Given the description of an element on the screen output the (x, y) to click on. 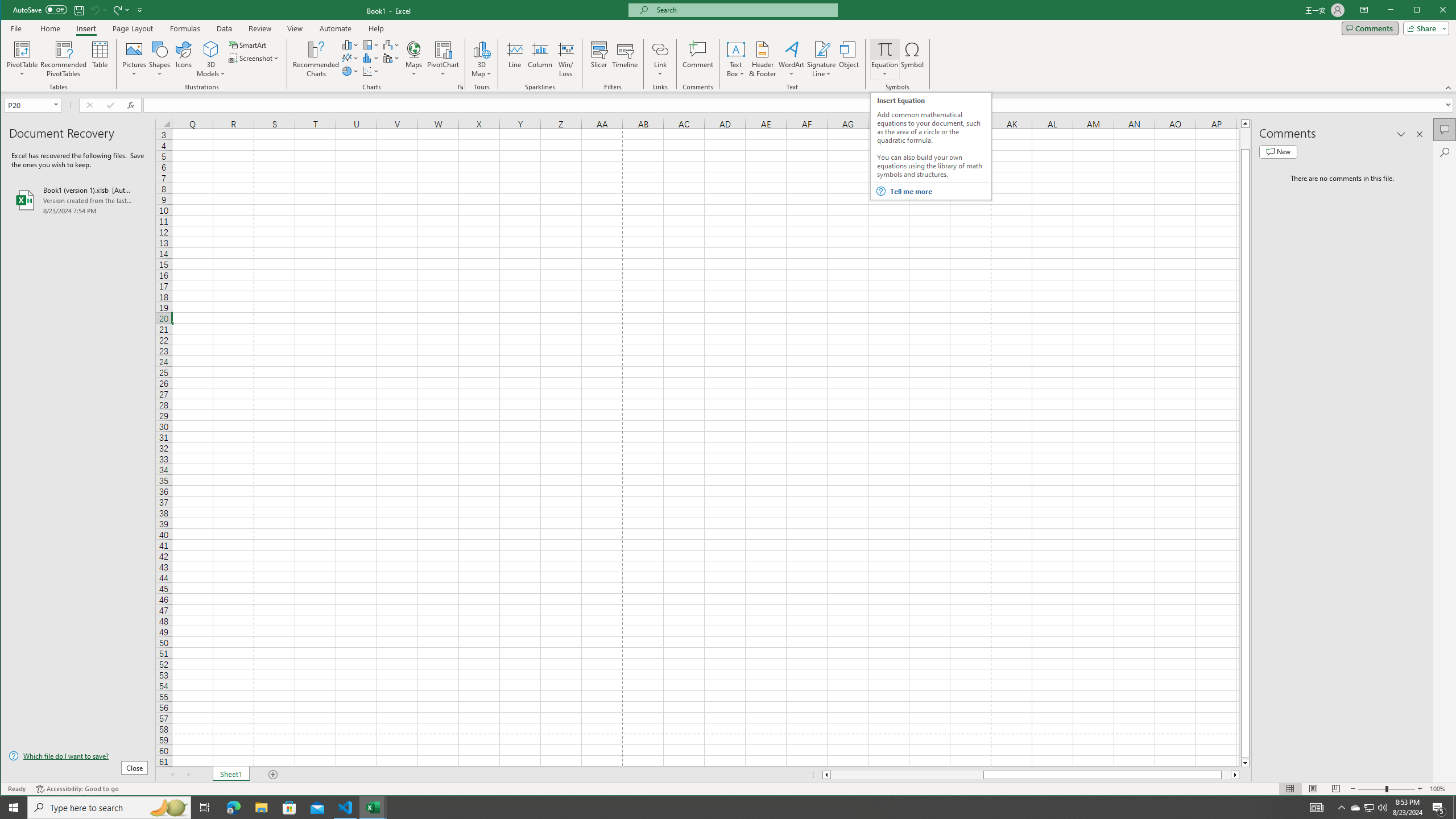
SmartArt... (248, 44)
Type here to search (108, 807)
Insert Statistic Chart (371, 57)
PivotChart (443, 48)
3D Models (211, 48)
Text Box (735, 59)
Running applications (717, 807)
Insert Combo Chart (391, 57)
